Given the description of an element on the screen output the (x, y) to click on. 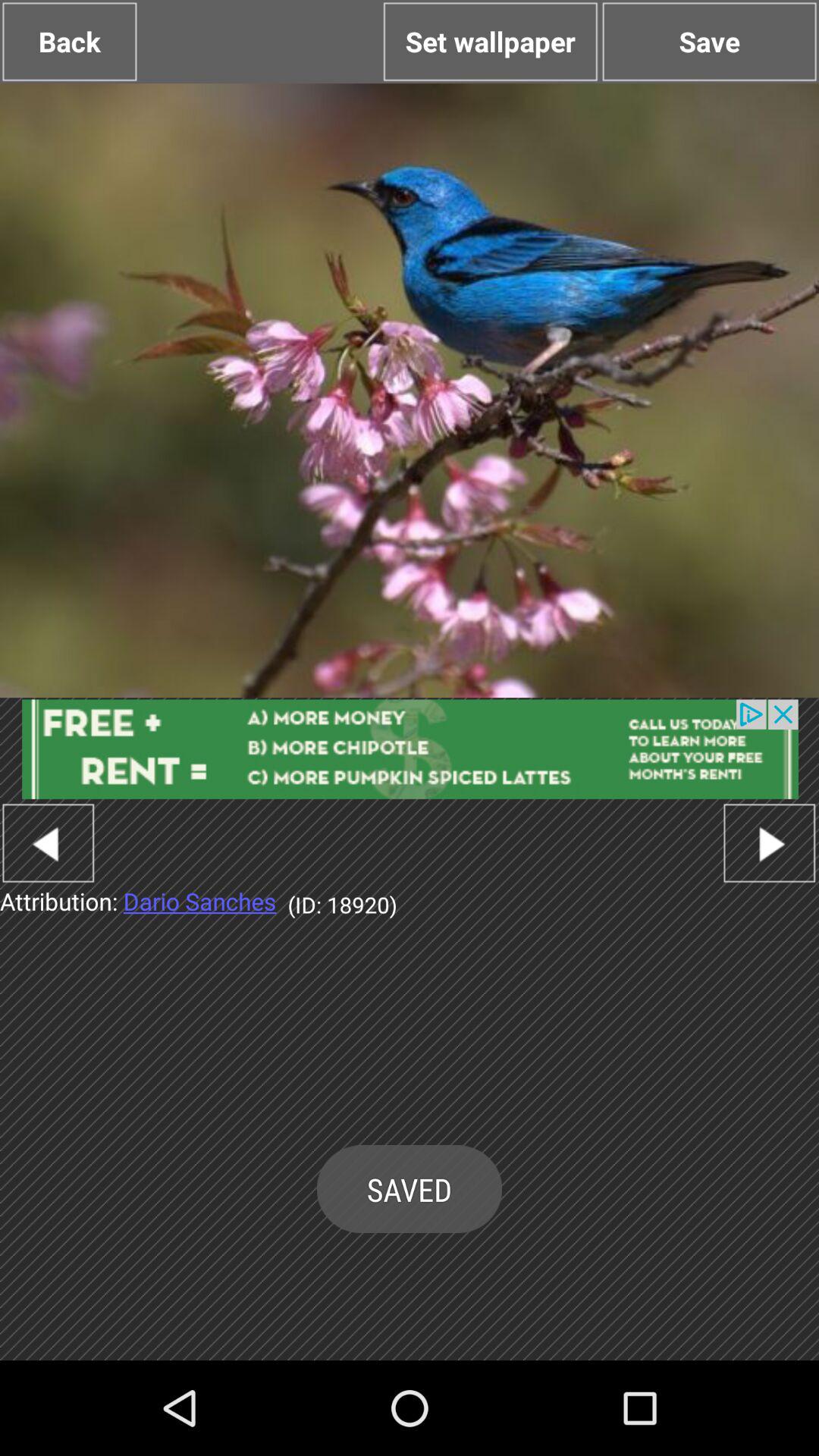
go back (48, 842)
